Given the description of an element on the screen output the (x, y) to click on. 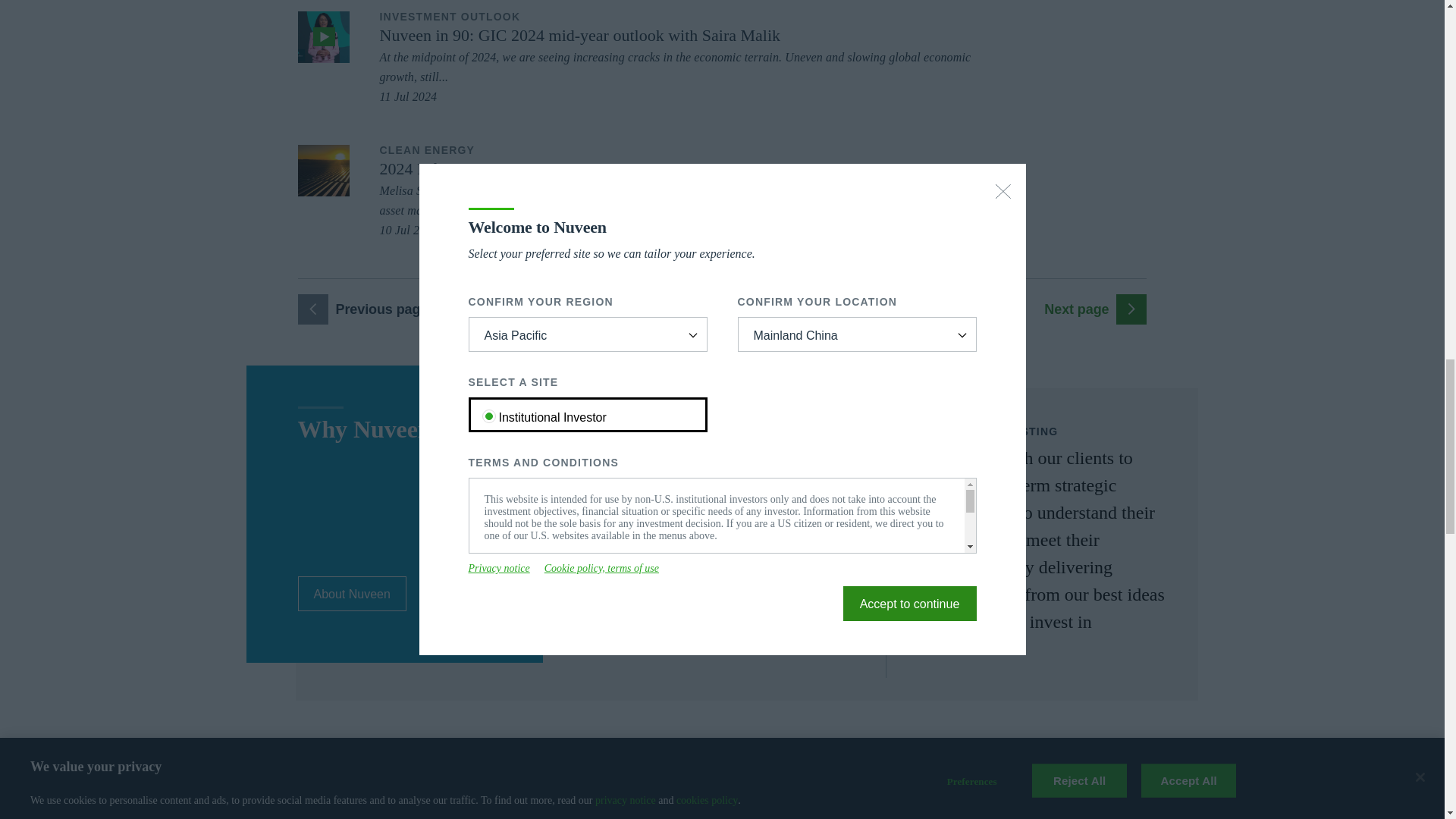
About Nuveen (351, 593)
